Given the description of an element on the screen output the (x, y) to click on. 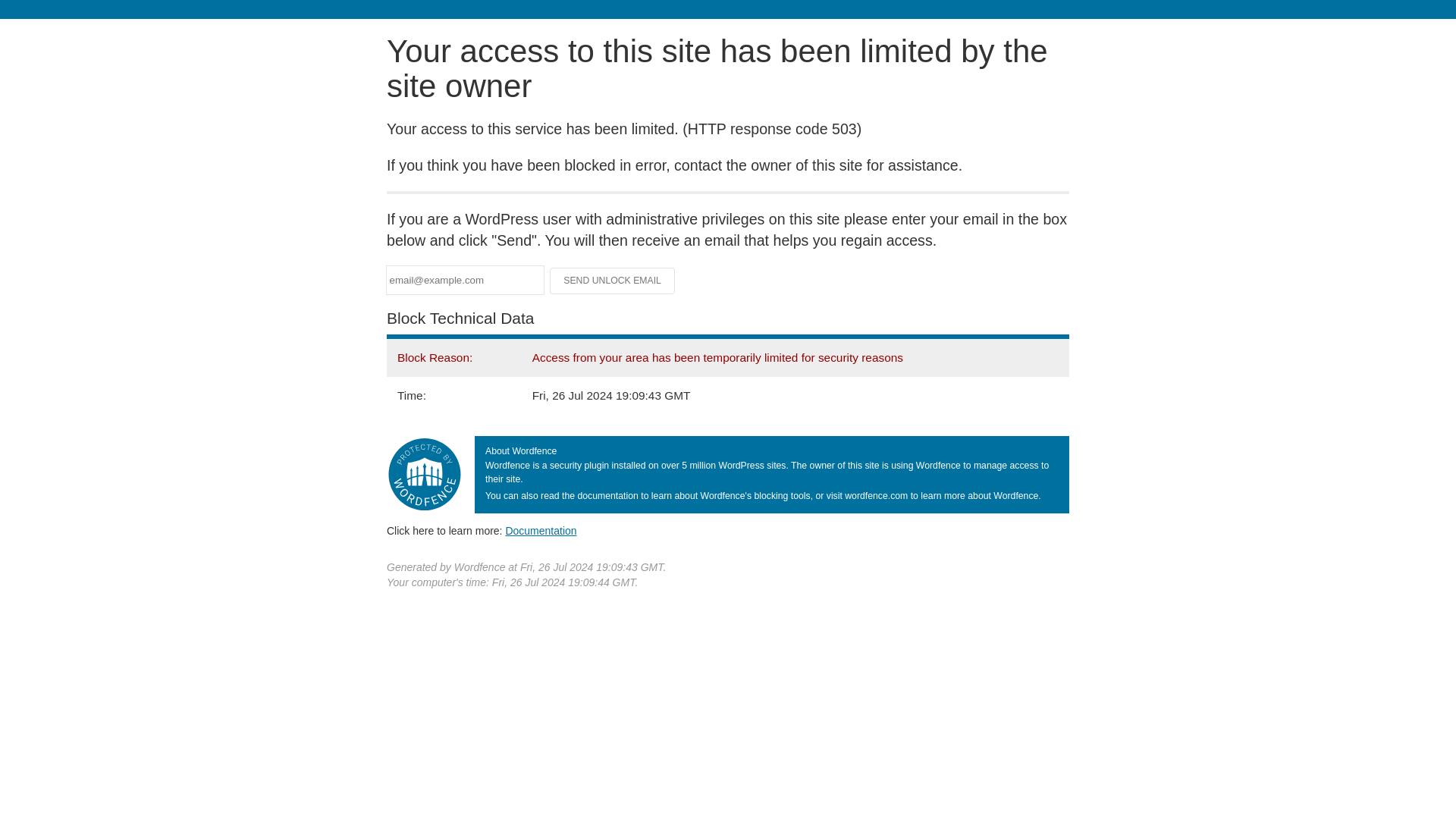
Send Unlock Email (612, 280)
Send Unlock Email (612, 280)
